Given the description of an element on the screen output the (x, y) to click on. 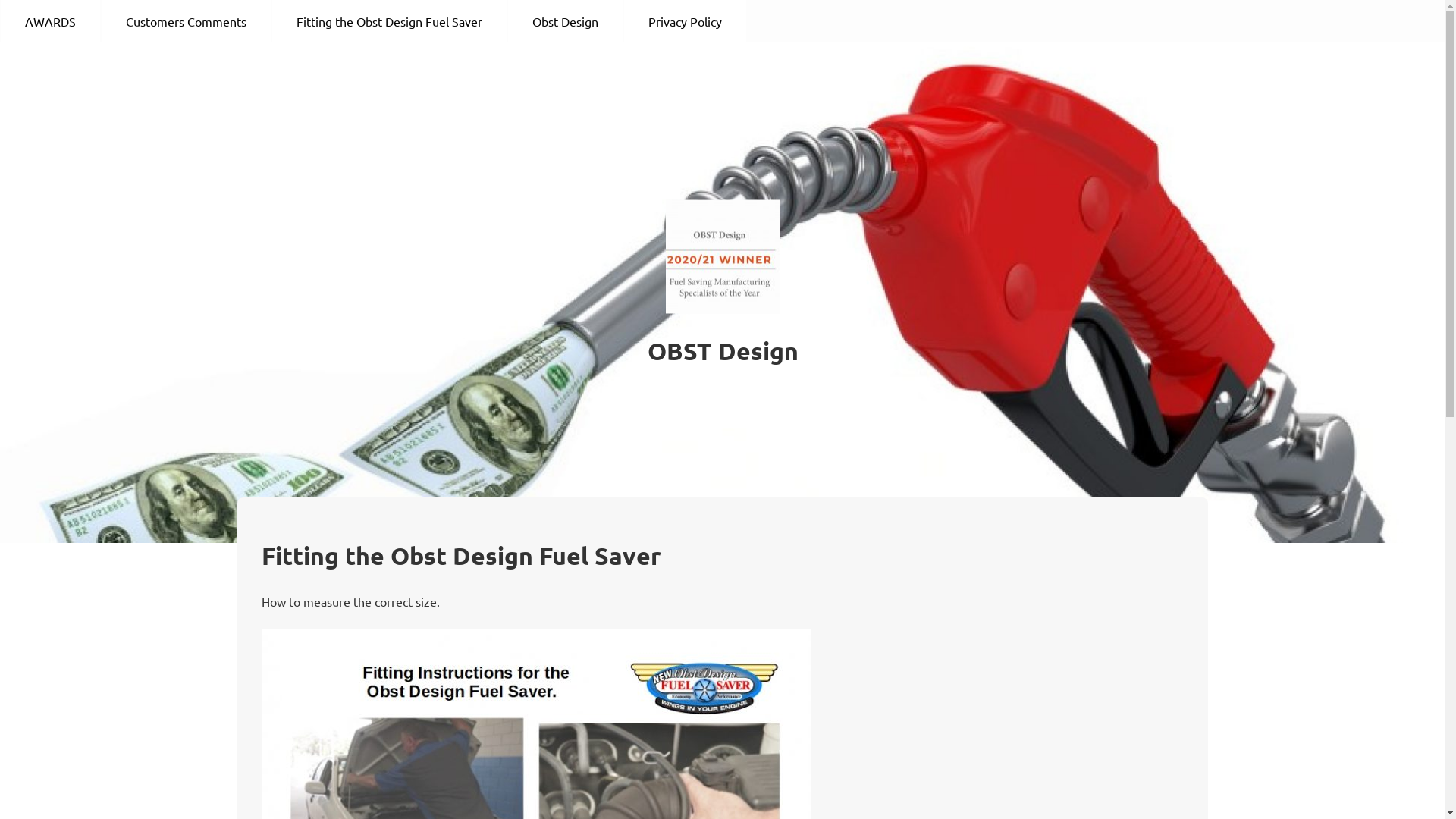
AWARDS Element type: text (50, 21)
Fitting the Obst Design Fuel Saver Element type: text (389, 21)
Obst Design Element type: text (565, 21)
Privacy Policy Element type: text (685, 21)
Customers Comments Element type: text (185, 21)
